Given the description of an element on the screen output the (x, y) to click on. 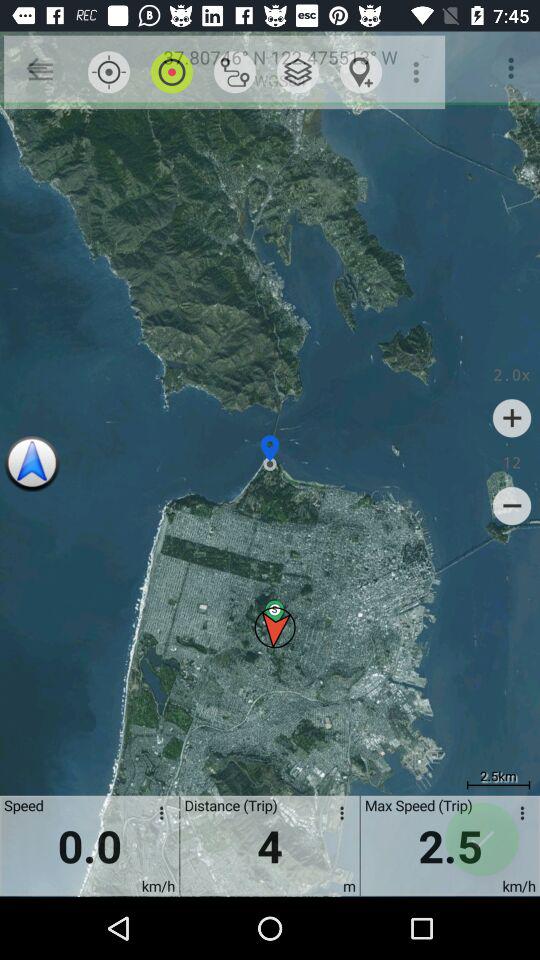
go to speed option (519, 816)
